Given the description of an element on the screen output the (x, y) to click on. 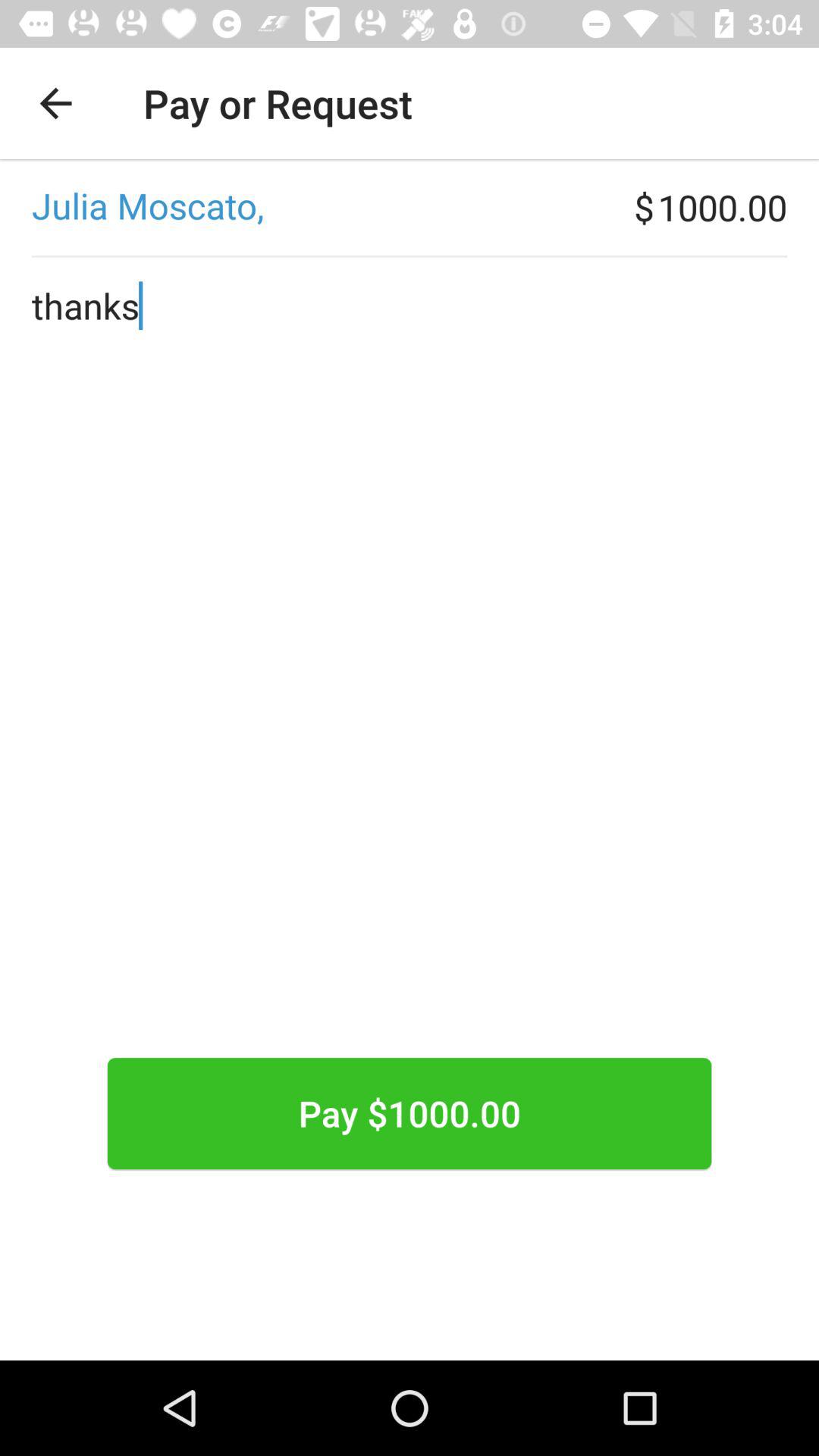
turn on the item at the top left corner (55, 103)
